Given the description of an element on the screen output the (x, y) to click on. 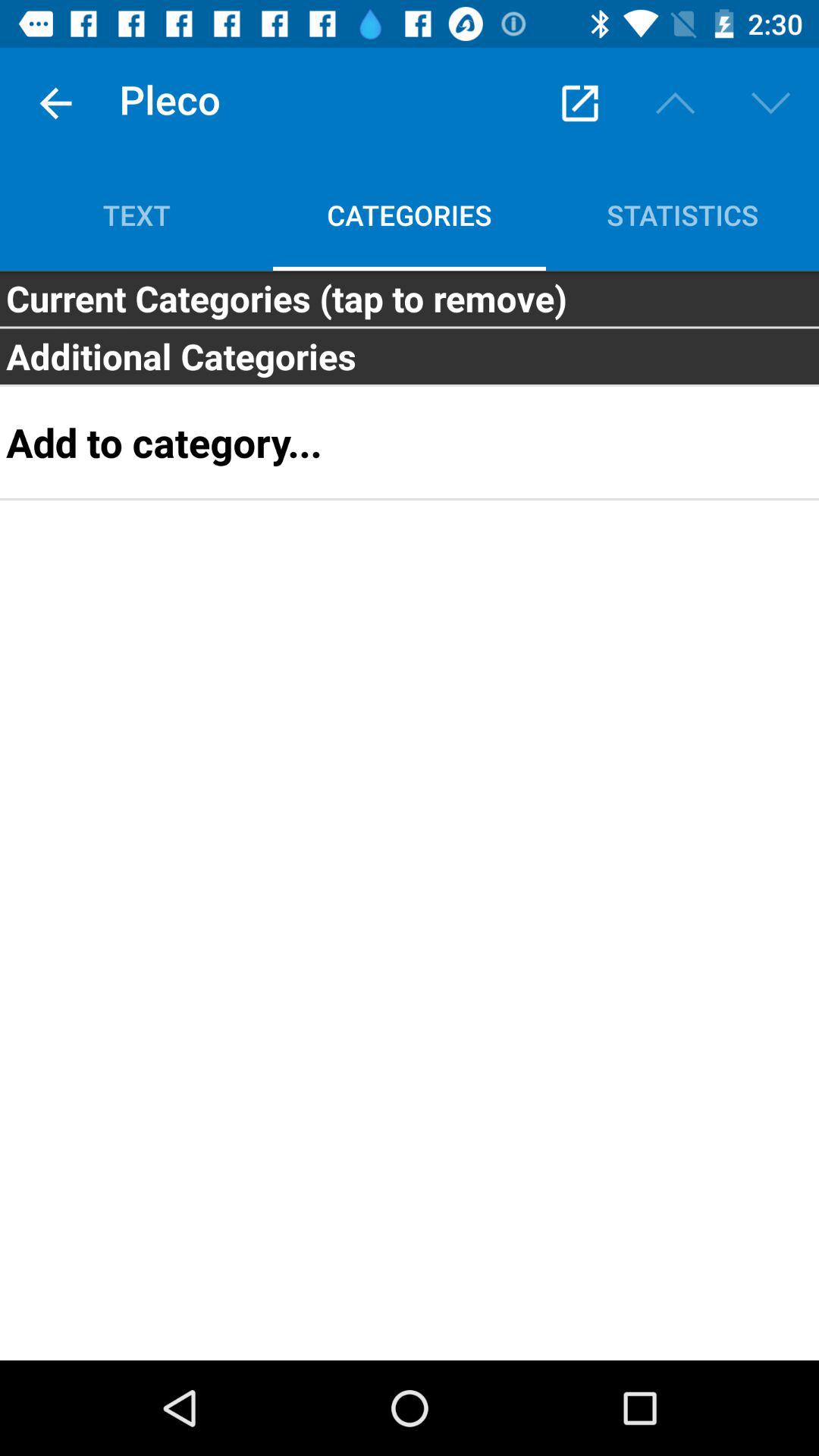
tap the item below text item (409, 298)
